Given the description of an element on the screen output the (x, y) to click on. 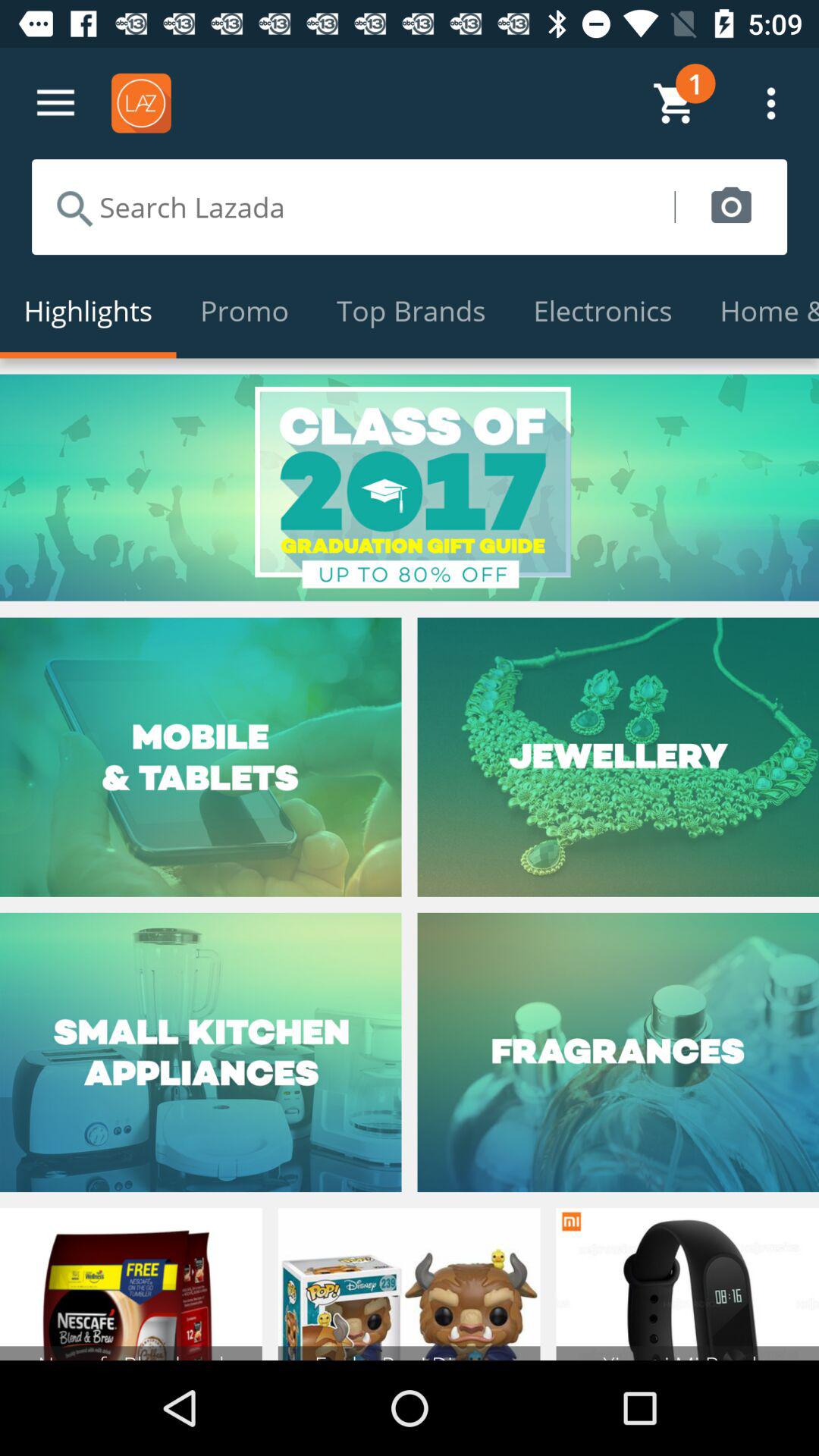
select option (409, 487)
